Given the description of an element on the screen output the (x, y) to click on. 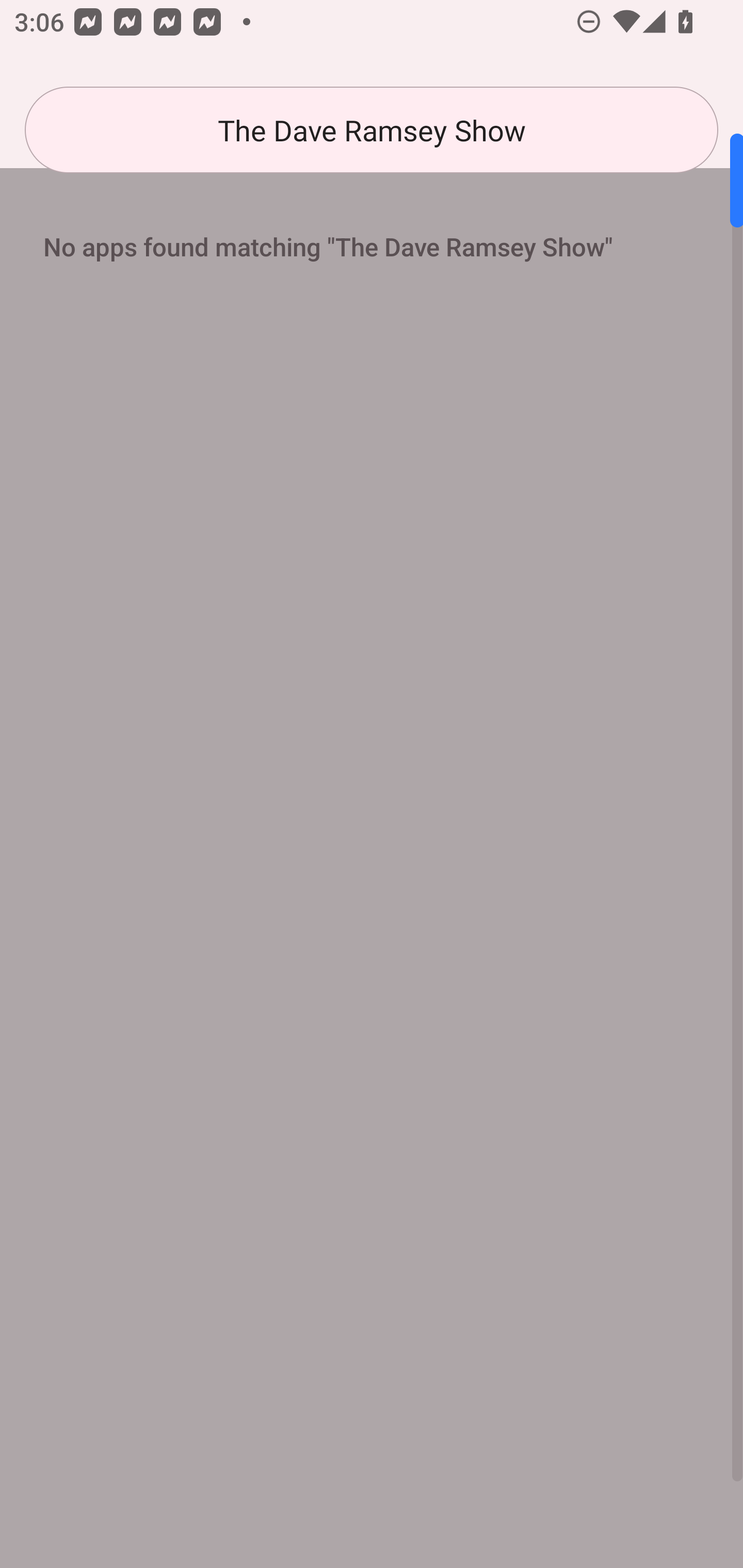
The Dave Ramsey Show (371, 130)
